Given the description of an element on the screen output the (x, y) to click on. 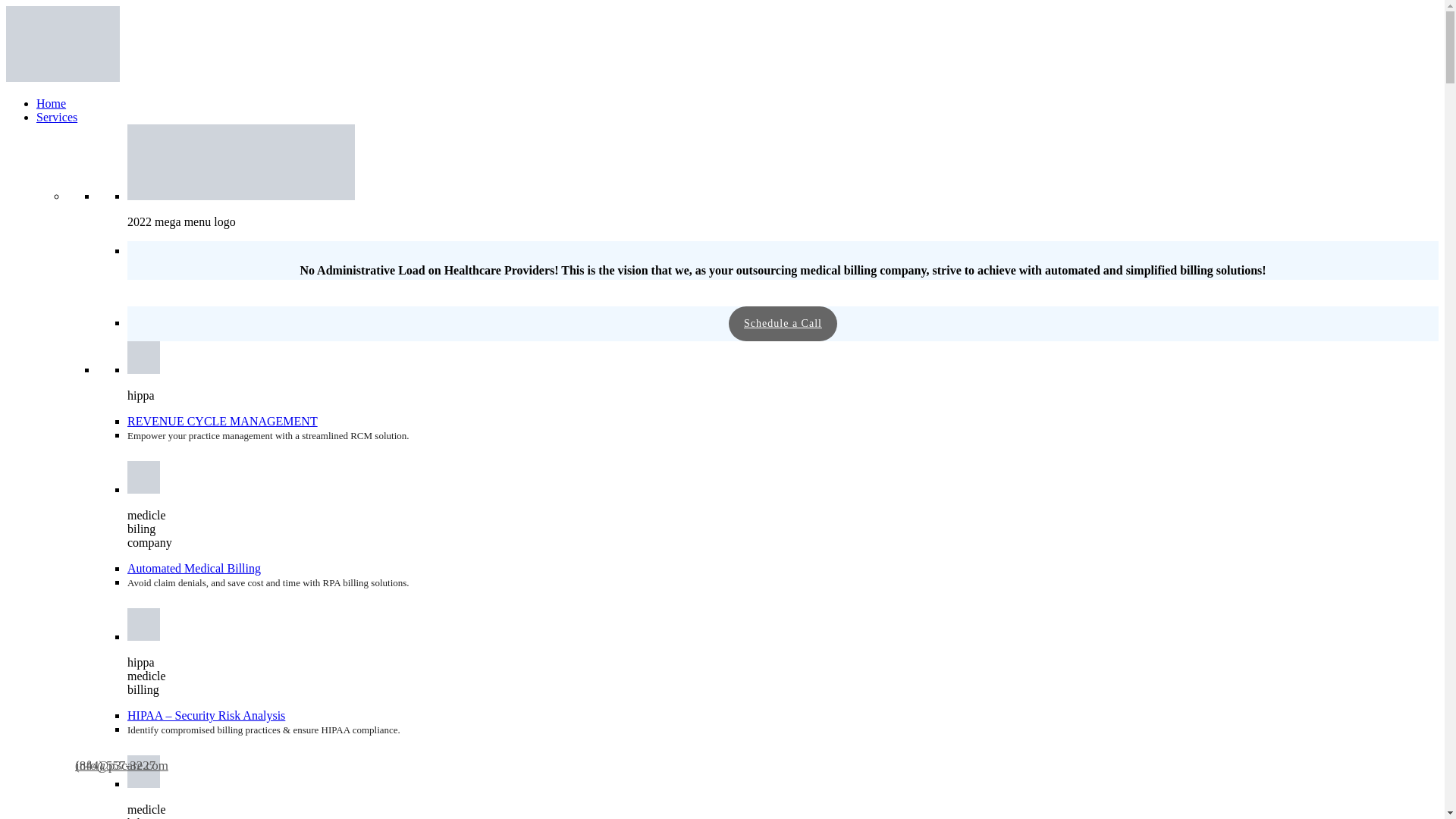
Automated Medical Billing (194, 567)
Schedule a Call (783, 323)
Home (50, 103)
Services (56, 116)
REVENUE CYCLE MANAGEMENT (222, 420)
